Given the description of an element on the screen output the (x, y) to click on. 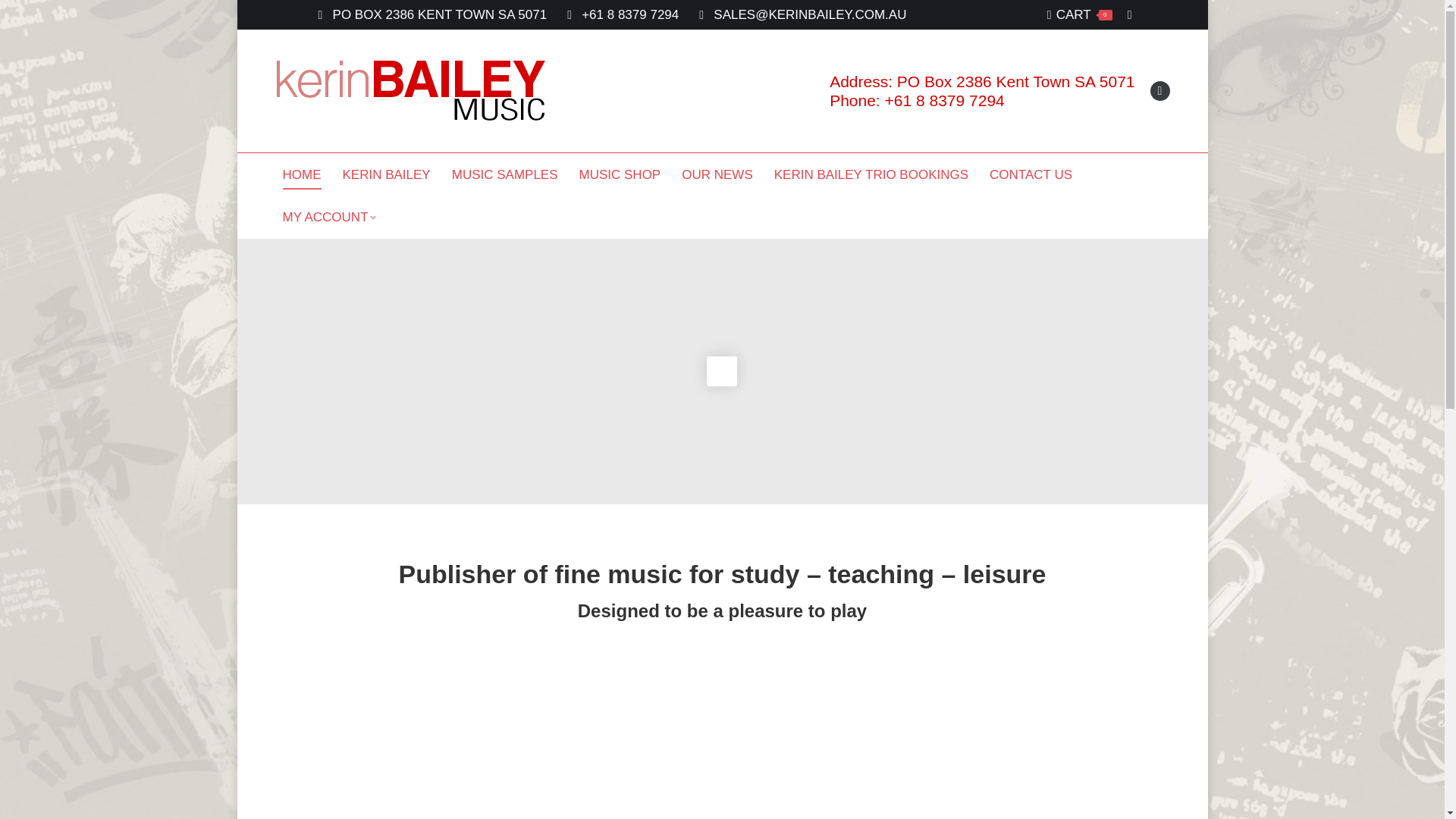
KERIN BAILEY TRIO BOOKINGS (870, 174)
MY ACCOUNT (328, 216)
KERIN BAILEY (1079, 14)
Facebook page opens in new window (385, 174)
Facebook page opens in new window (1159, 90)
CONTACT US (1159, 90)
OUR NEWS (1029, 174)
HOME (716, 174)
MUSIC SHOP (300, 174)
